Given the description of an element on the screen output the (x, y) to click on. 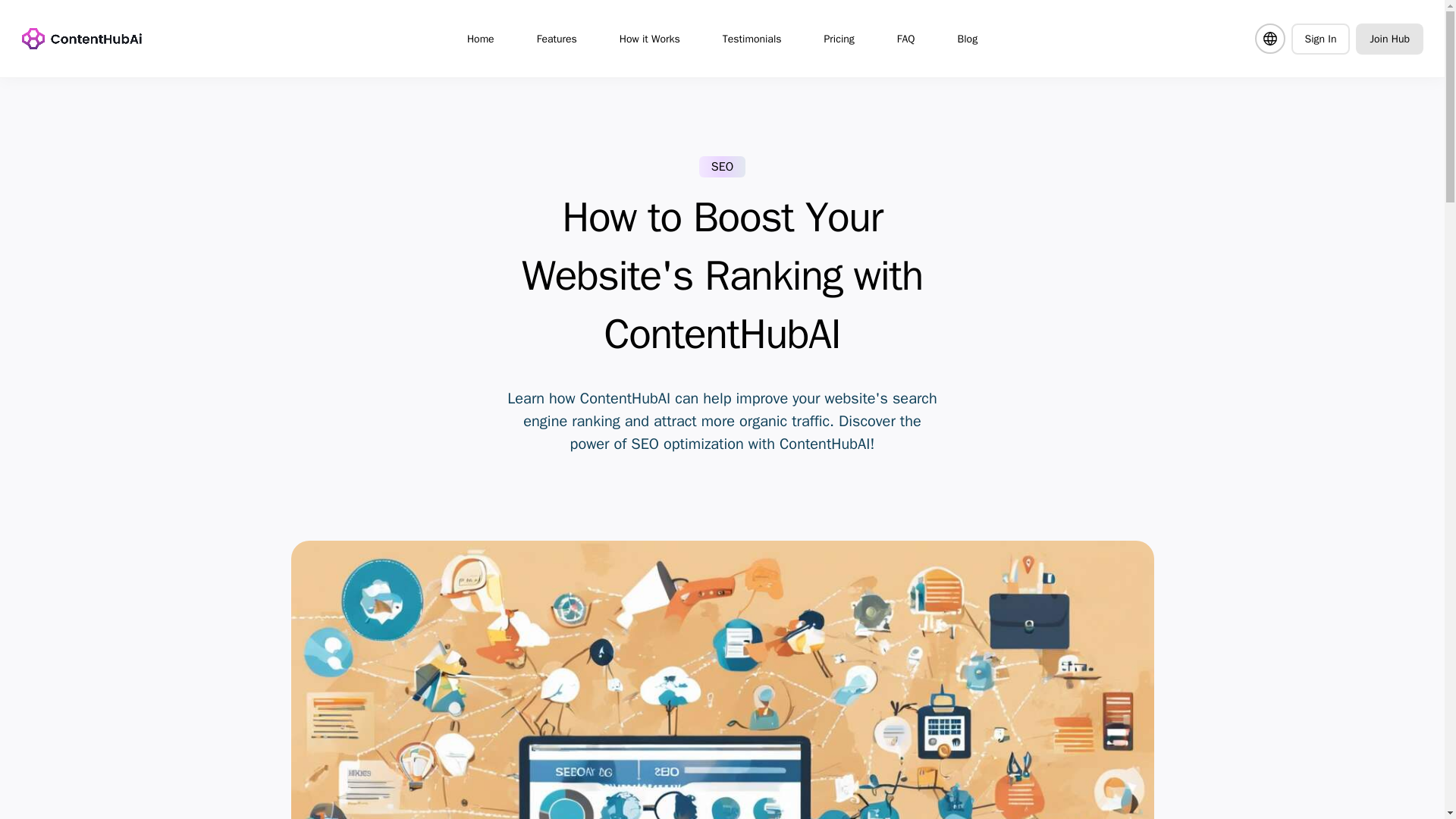
How it Works (649, 38)
SEO (721, 166)
Testimonials (751, 38)
Home (481, 38)
Blog (968, 38)
Pricing (839, 38)
FAQ (905, 38)
Sign In (1319, 38)
Features (556, 38)
Join Hub (1389, 38)
